Given the description of an element on the screen output the (x, y) to click on. 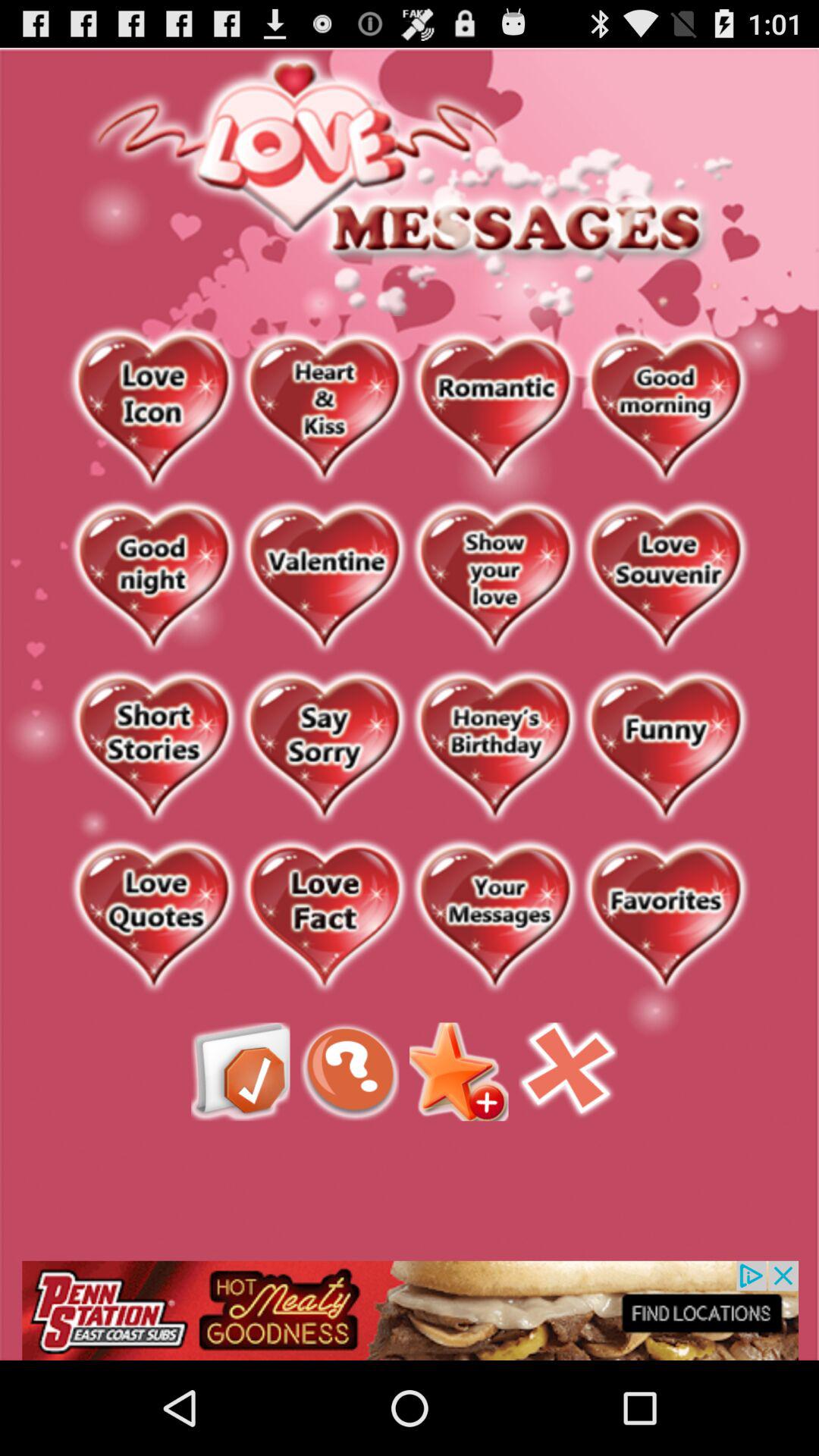
favorite (323, 917)
